Given the description of an element on the screen output the (x, y) to click on. 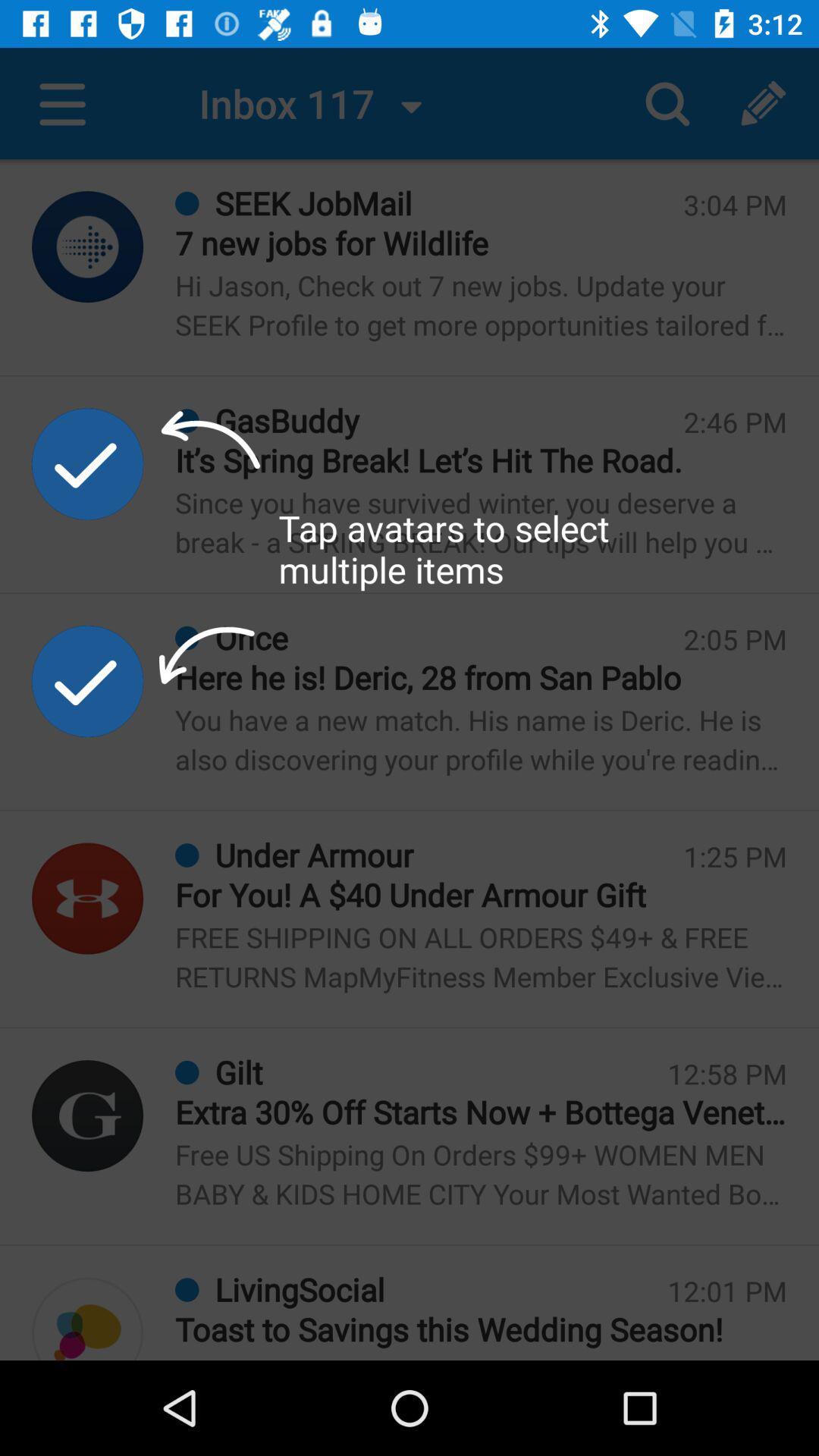
select item (87, 463)
